Given the description of an element on the screen output the (x, y) to click on. 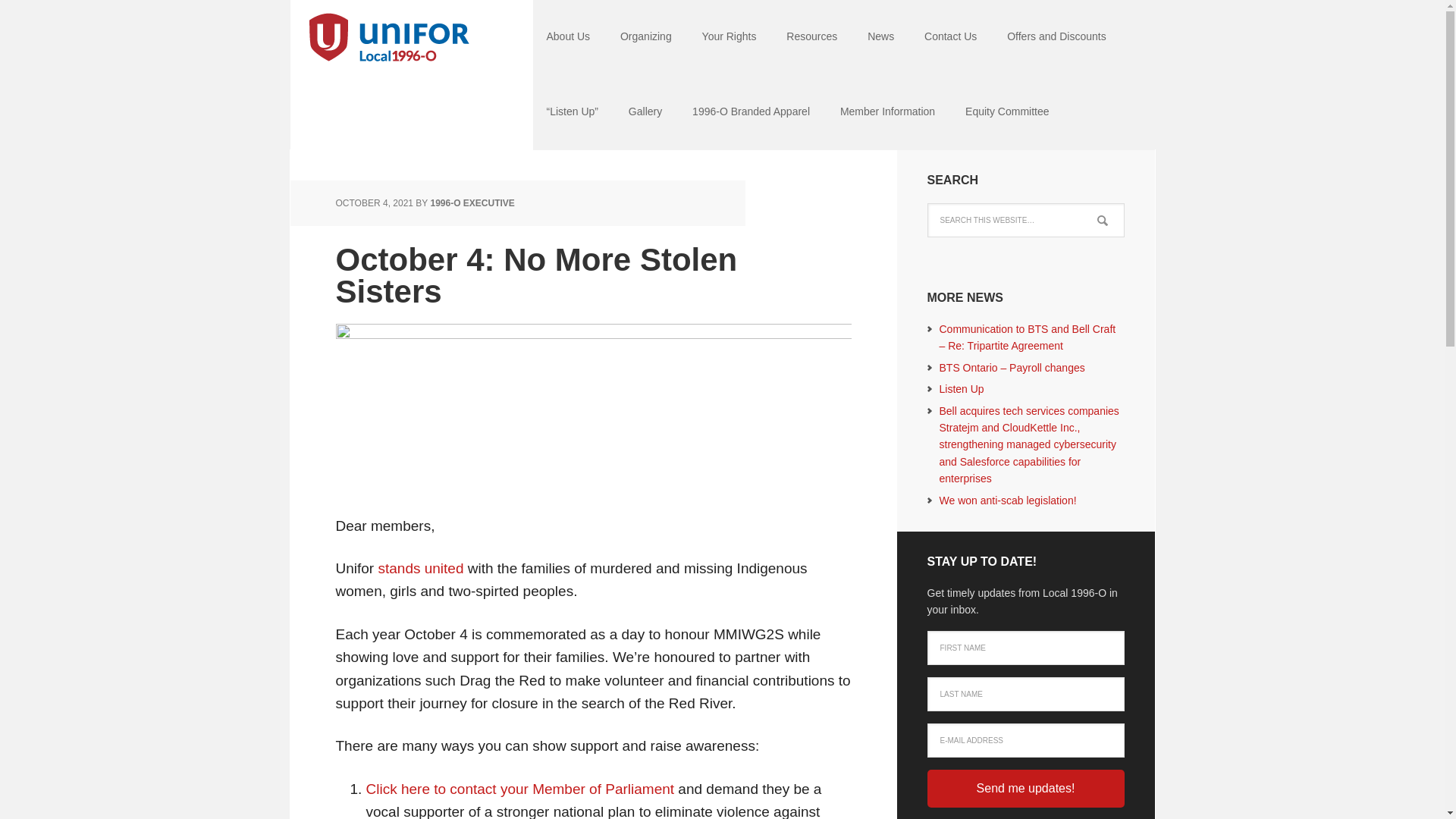
Resources (811, 37)
Equity Committee (1007, 112)
Unifor Local 1996-O (387, 38)
1996-O Branded Apparel (751, 112)
Listen Up (961, 388)
Organizing (646, 37)
Send me updates! (1025, 788)
stands united (420, 568)
Your Rights (729, 37)
